Given the description of an element on the screen output the (x, y) to click on. 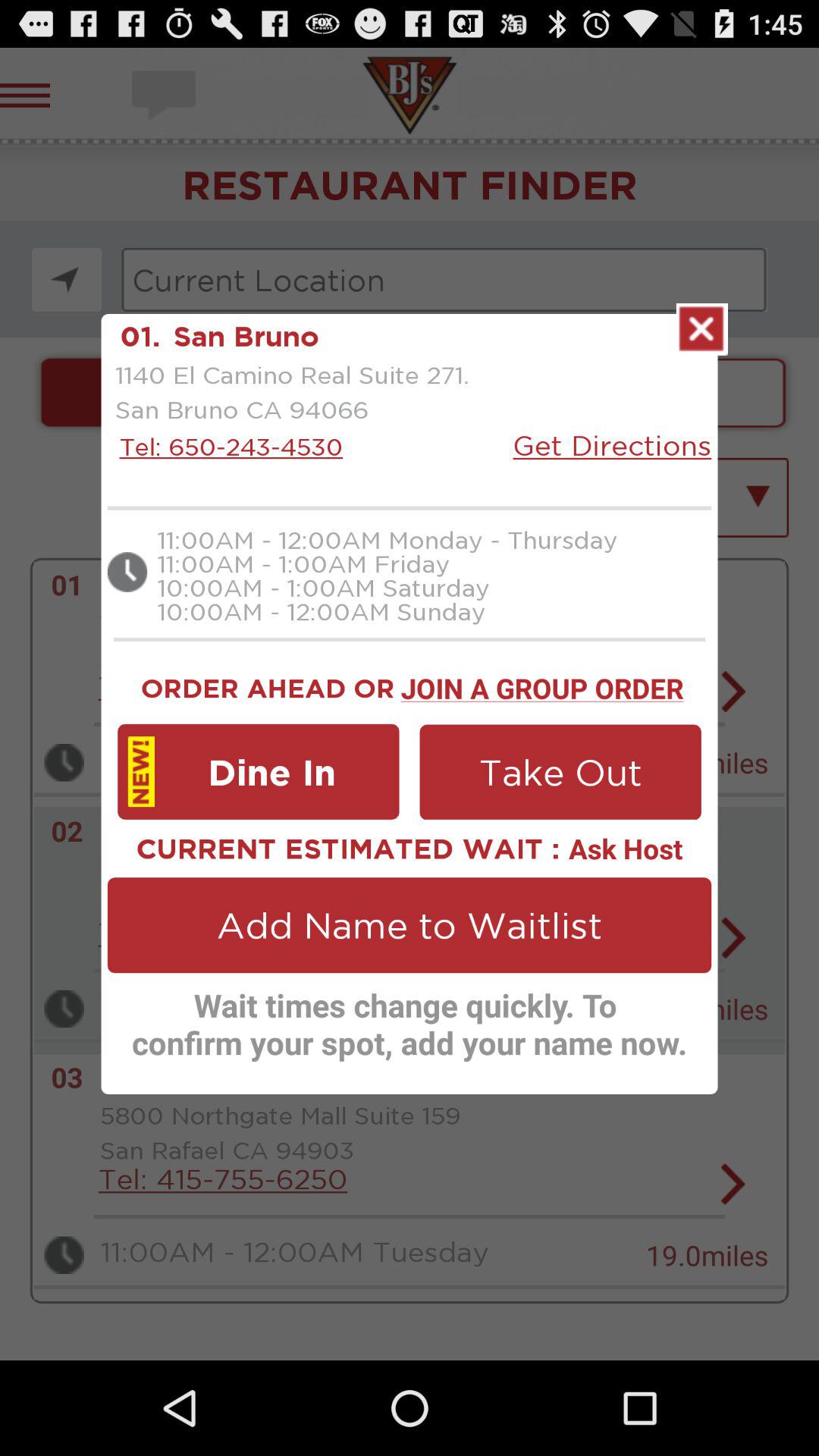
choose icon next to dine in (560, 771)
